Given the description of an element on the screen output the (x, y) to click on. 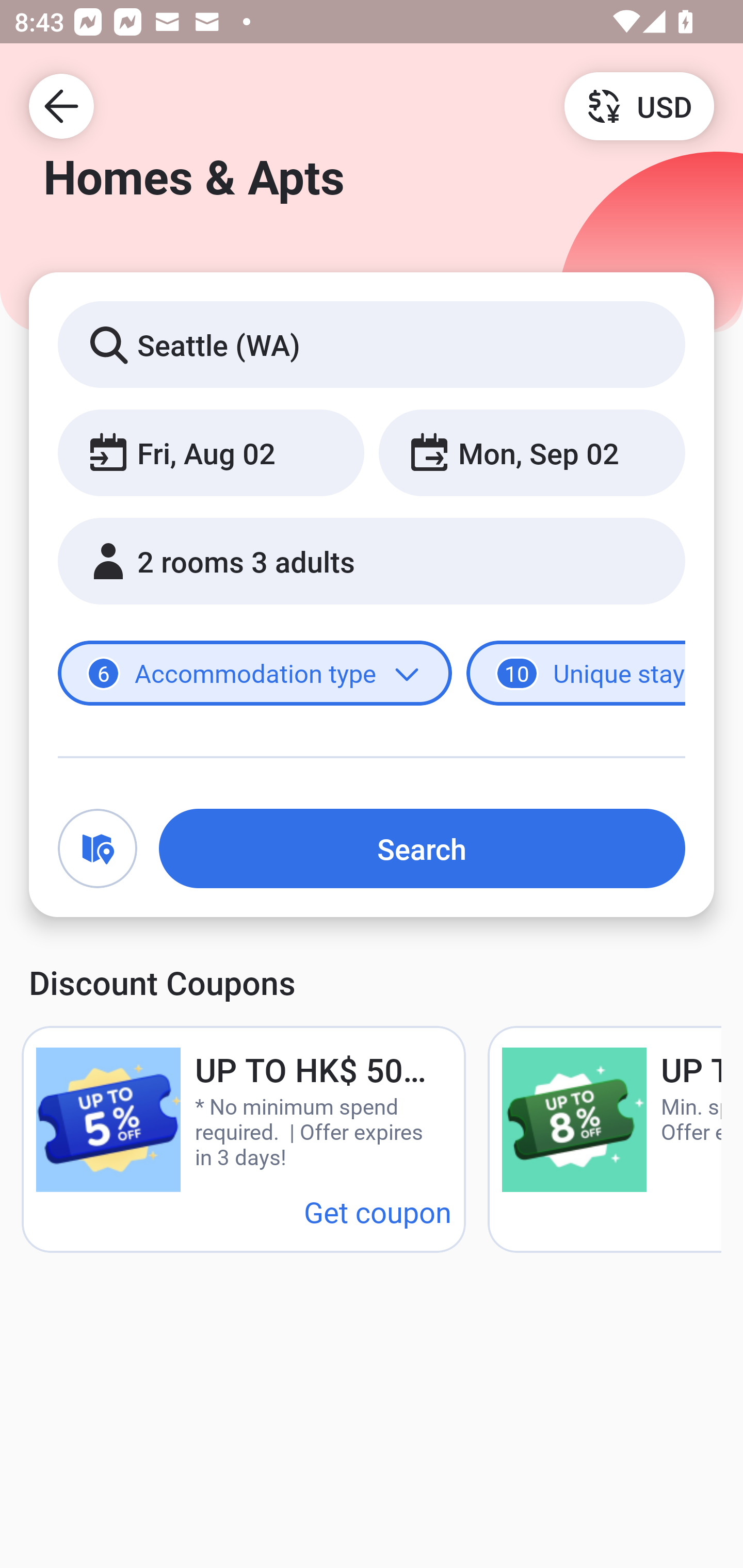
USD (639, 105)
Seattle (WA) (371, 344)
Fri, Aug 02 (210, 452)
Mon, Sep 02 (531, 452)
2 rooms 3 adults (371, 561)
6 Accommodation type (254, 673)
10 Unique stays (575, 673)
Search (422, 848)
Get coupon (377, 1211)
